Given the description of an element on the screen output the (x, y) to click on. 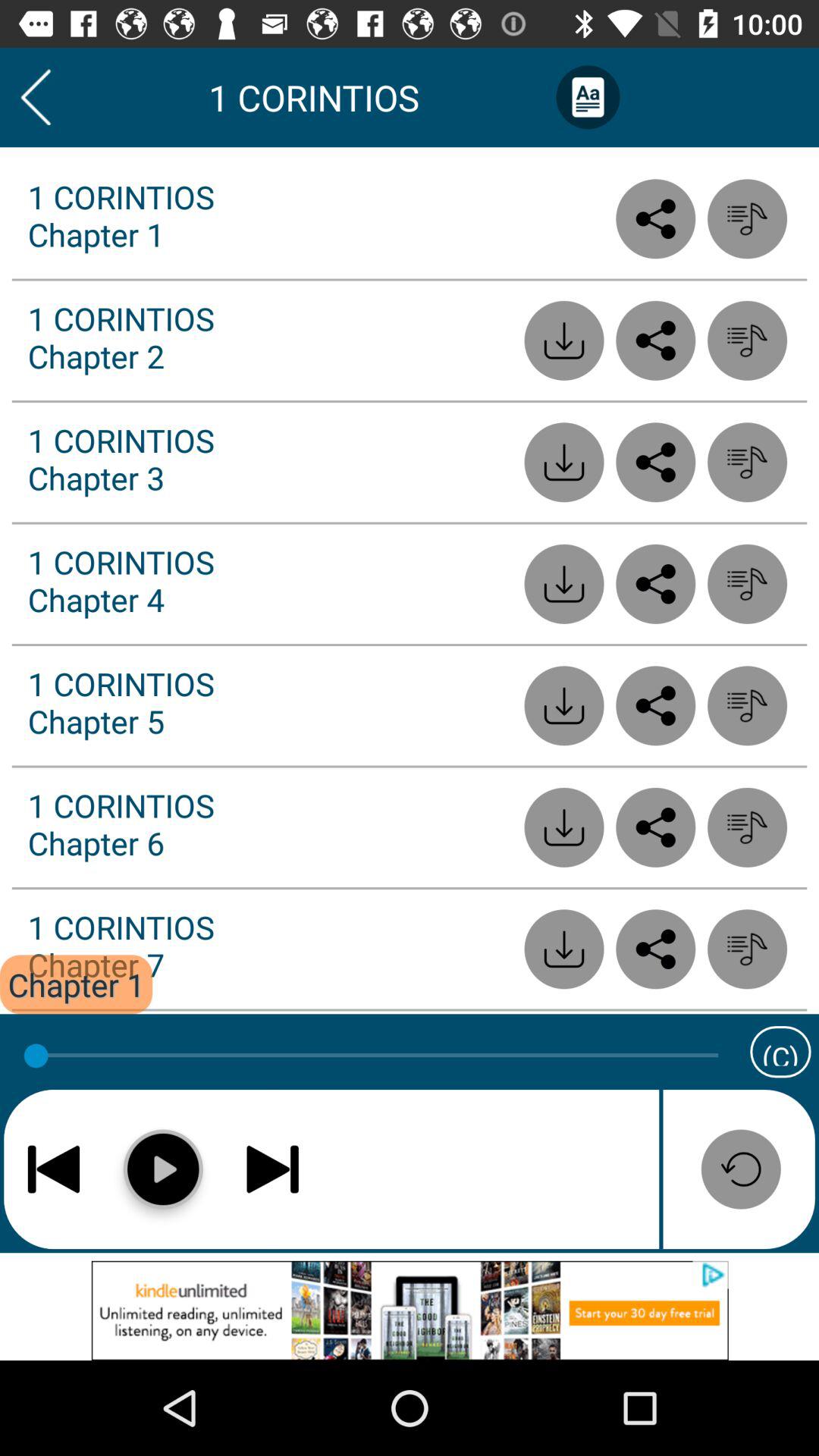
play next (272, 1168)
